Given the description of an element on the screen output the (x, y) to click on. 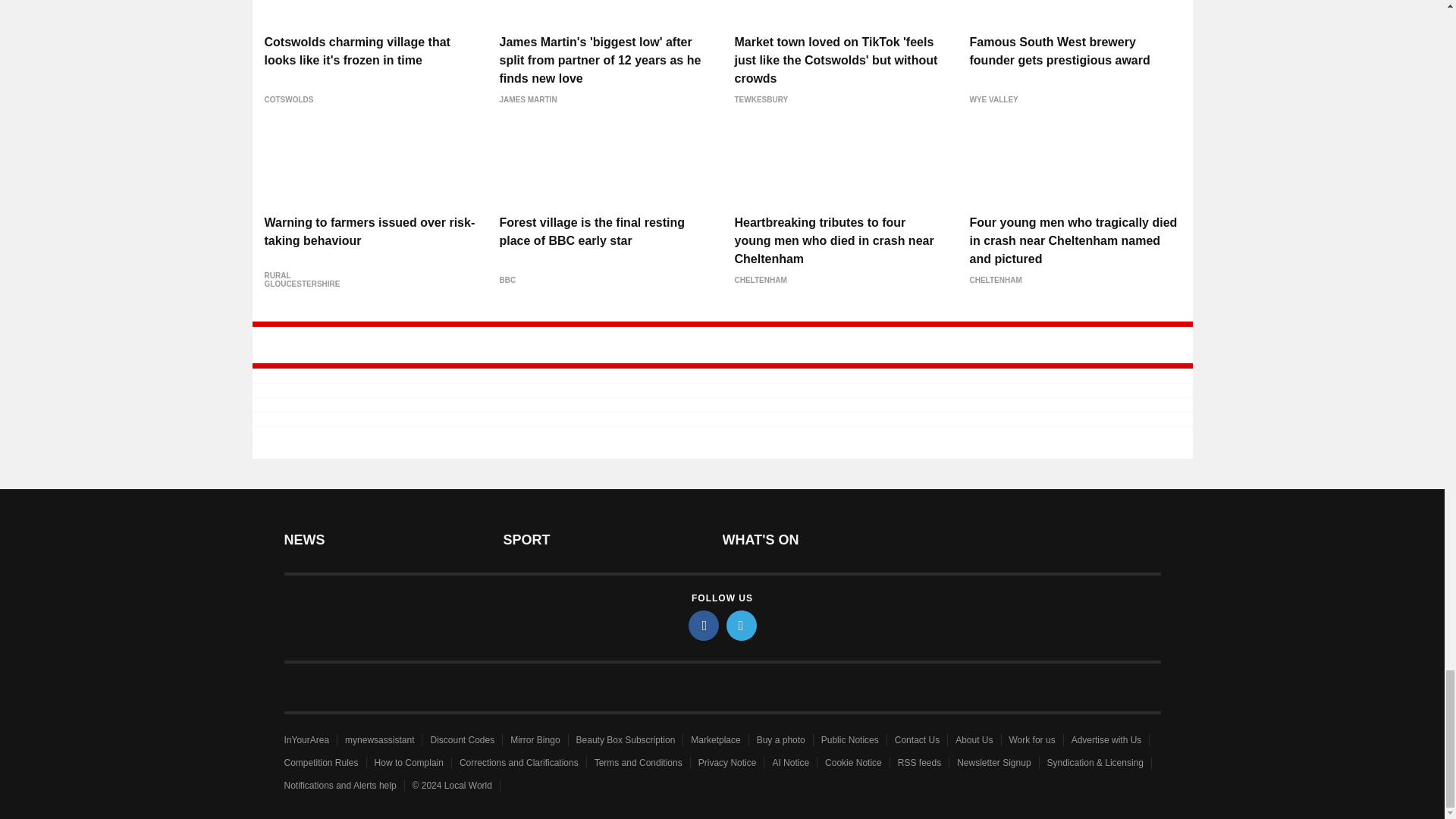
facebook (703, 625)
twitter (741, 625)
